Given the description of an element on the screen output the (x, y) to click on. 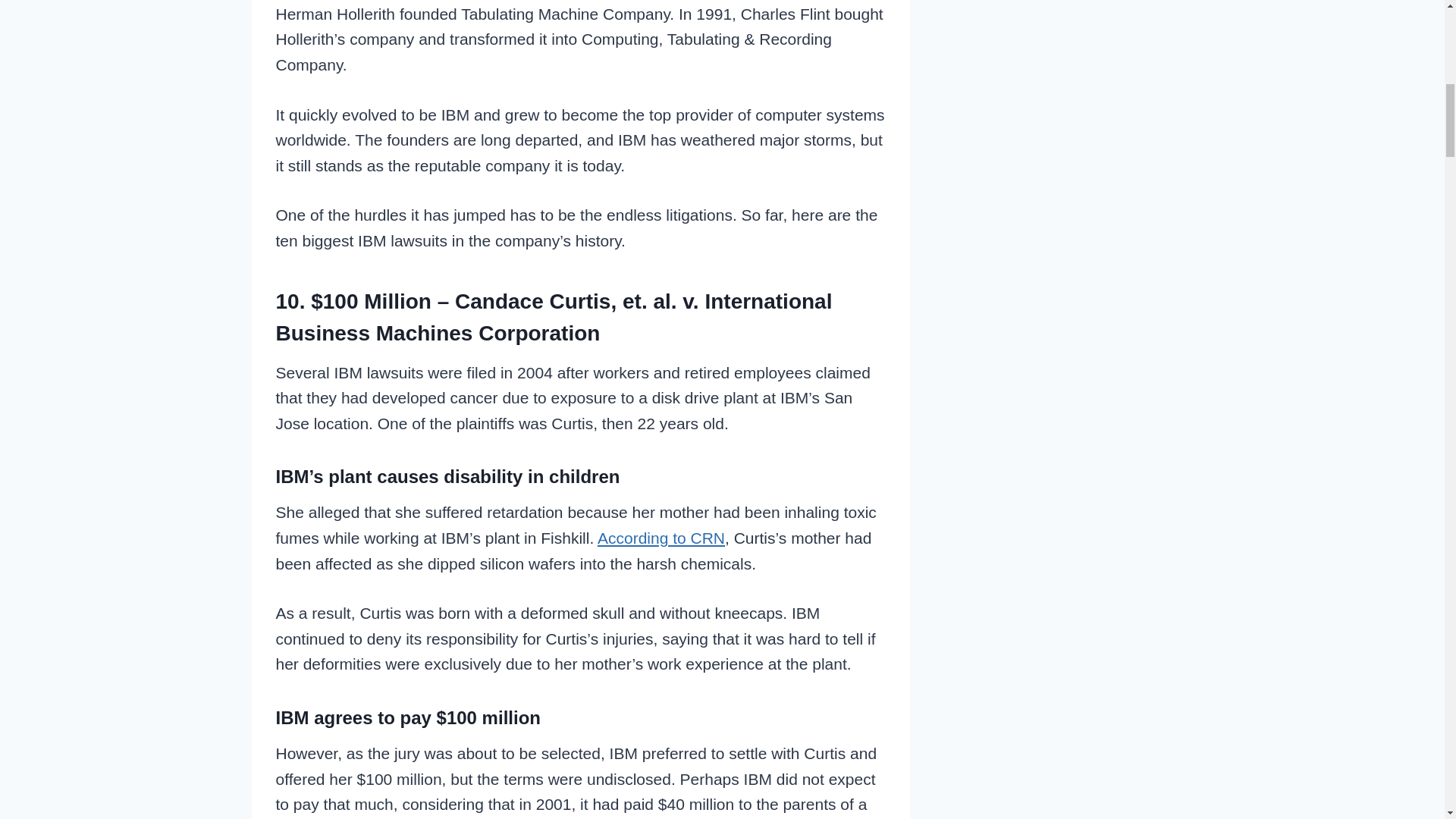
According to CRN (660, 538)
